Given the description of an element on the screen output the (x, y) to click on. 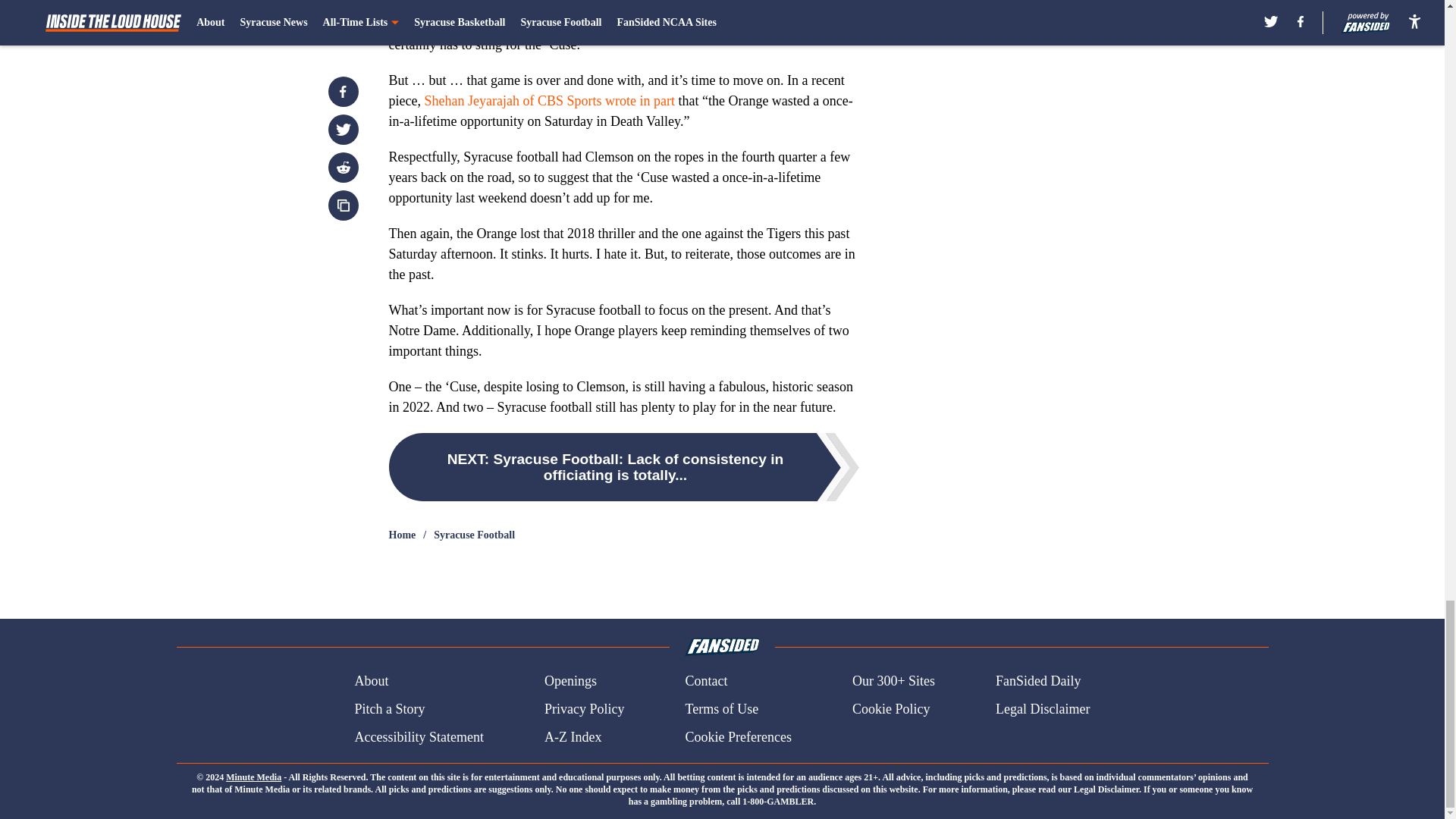
Home (401, 534)
Privacy Policy (584, 709)
Contact (705, 680)
when the Orange could have easily won (730, 23)
Pitch a Story (389, 709)
Openings (570, 680)
Shehan Jeyarajah of CBS Sports wrote in part (548, 100)
About (370, 680)
FanSided Daily (1038, 680)
Syracuse Football (474, 534)
